Given the description of an element on the screen output the (x, y) to click on. 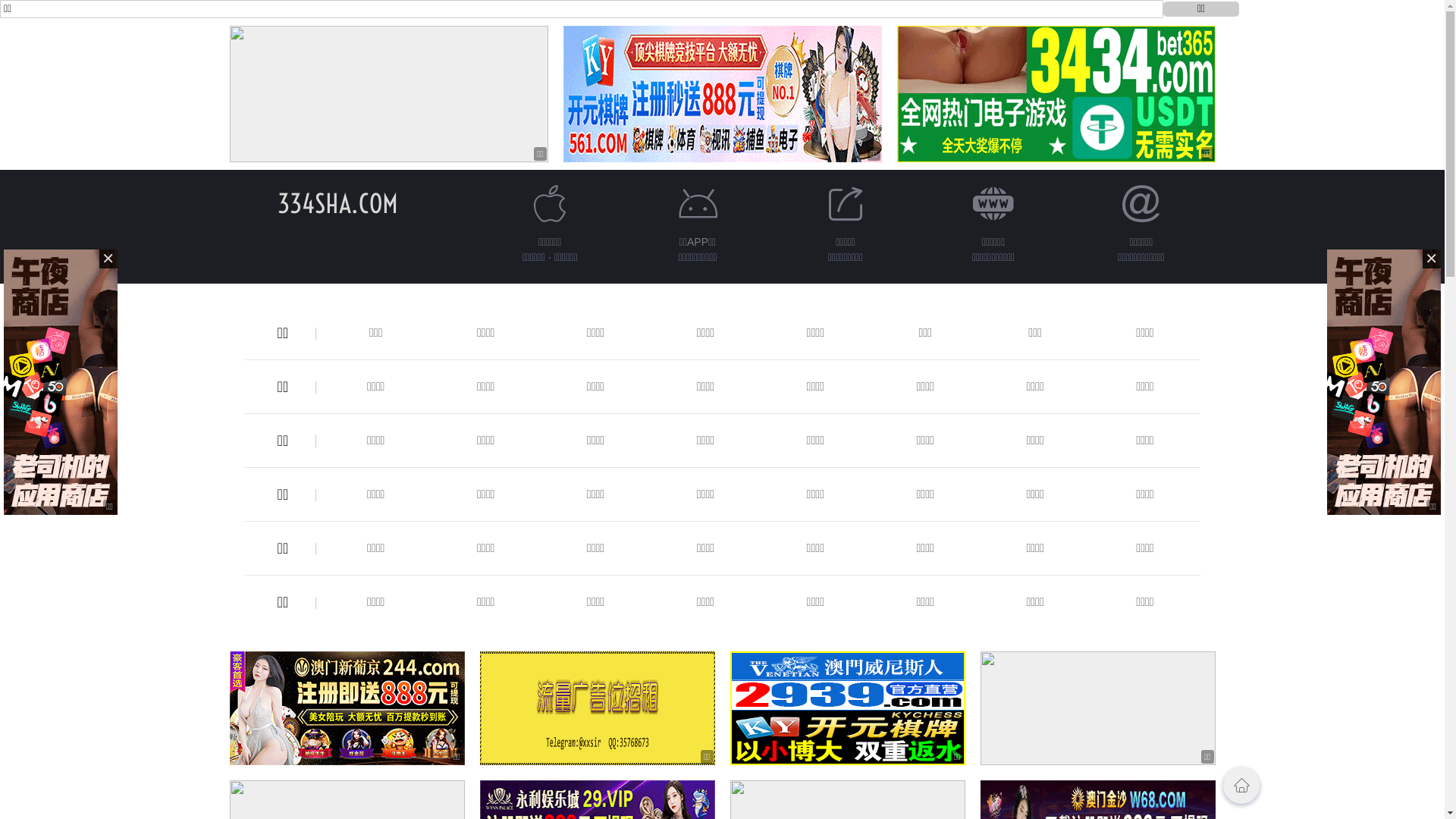
334SHA.COM Element type: text (337, 203)
